Given the description of an element on the screen output the (x, y) to click on. 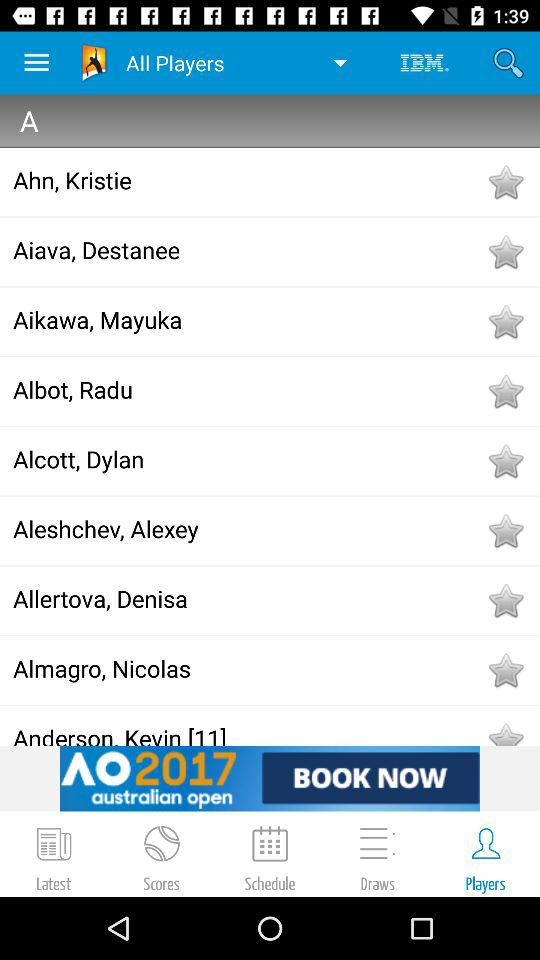
toggle favorite (505, 531)
